Given the description of an element on the screen output the (x, y) to click on. 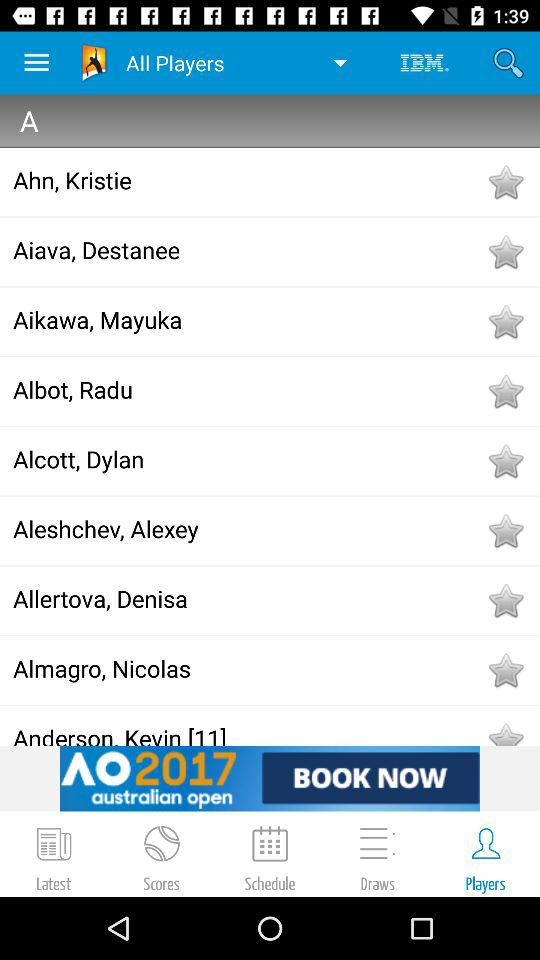
toggle favorite (505, 531)
